Given the description of an element on the screen output the (x, y) to click on. 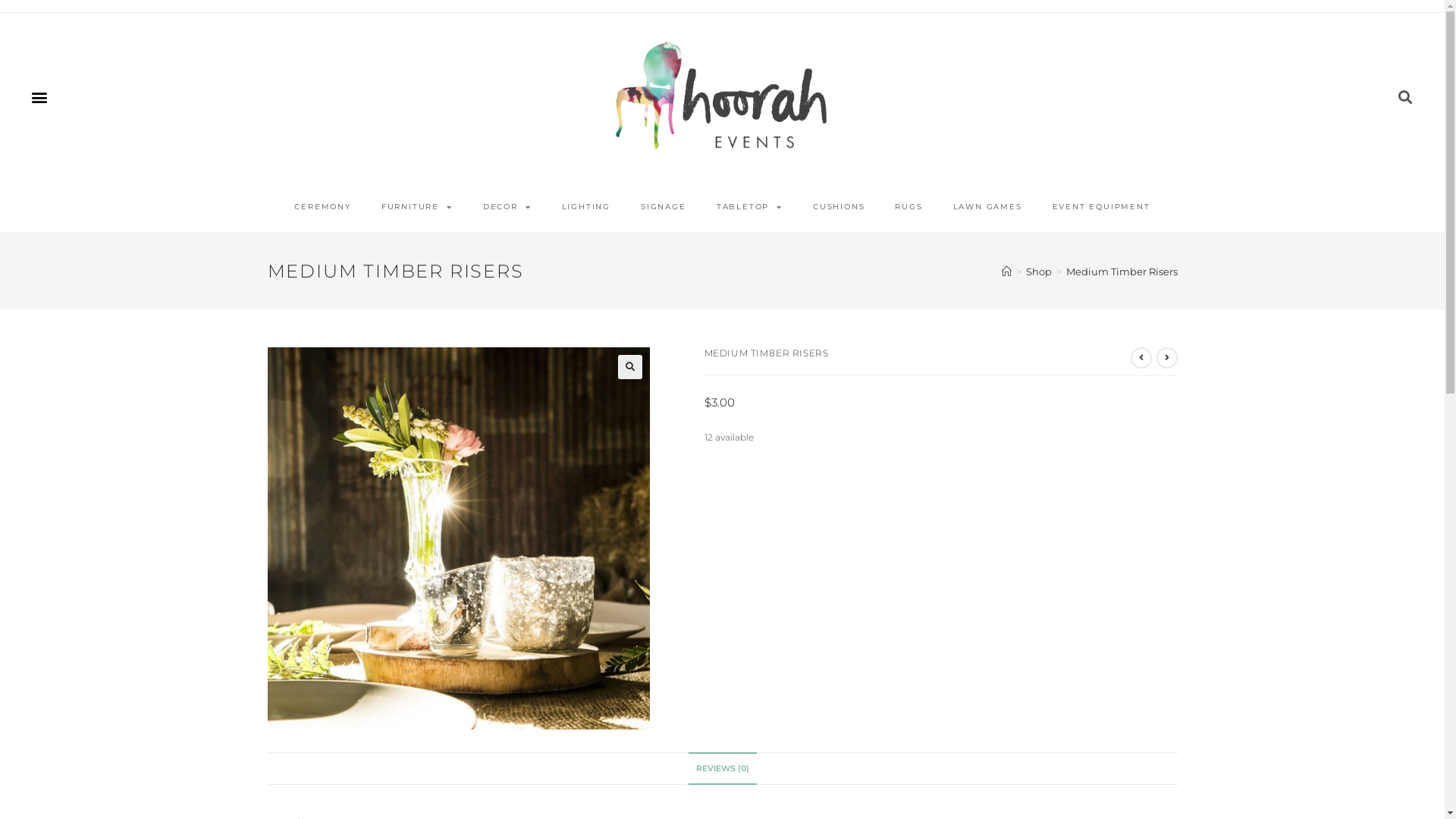
TABLETOP Element type: text (749, 206)
RUGS Element type: text (908, 206)
CUSHIONS Element type: text (838, 206)
LAWN GAMES Element type: text (987, 206)
SIGNAGE Element type: text (663, 206)
wood-risers-wedding-hire Element type: hover (457, 537)
DECOR Element type: text (506, 206)
FURNITURE Element type: text (416, 206)
EVENT EQUIPMENT Element type: text (1101, 206)
LIGHTING Element type: text (585, 206)
Shop Element type: text (1038, 271)
Medium Timber Risers Element type: text (1121, 271)
CEREMONY Element type: text (322, 206)
REVIEWS (0) Element type: text (722, 768)
